Given the description of an element on the screen output the (x, y) to click on. 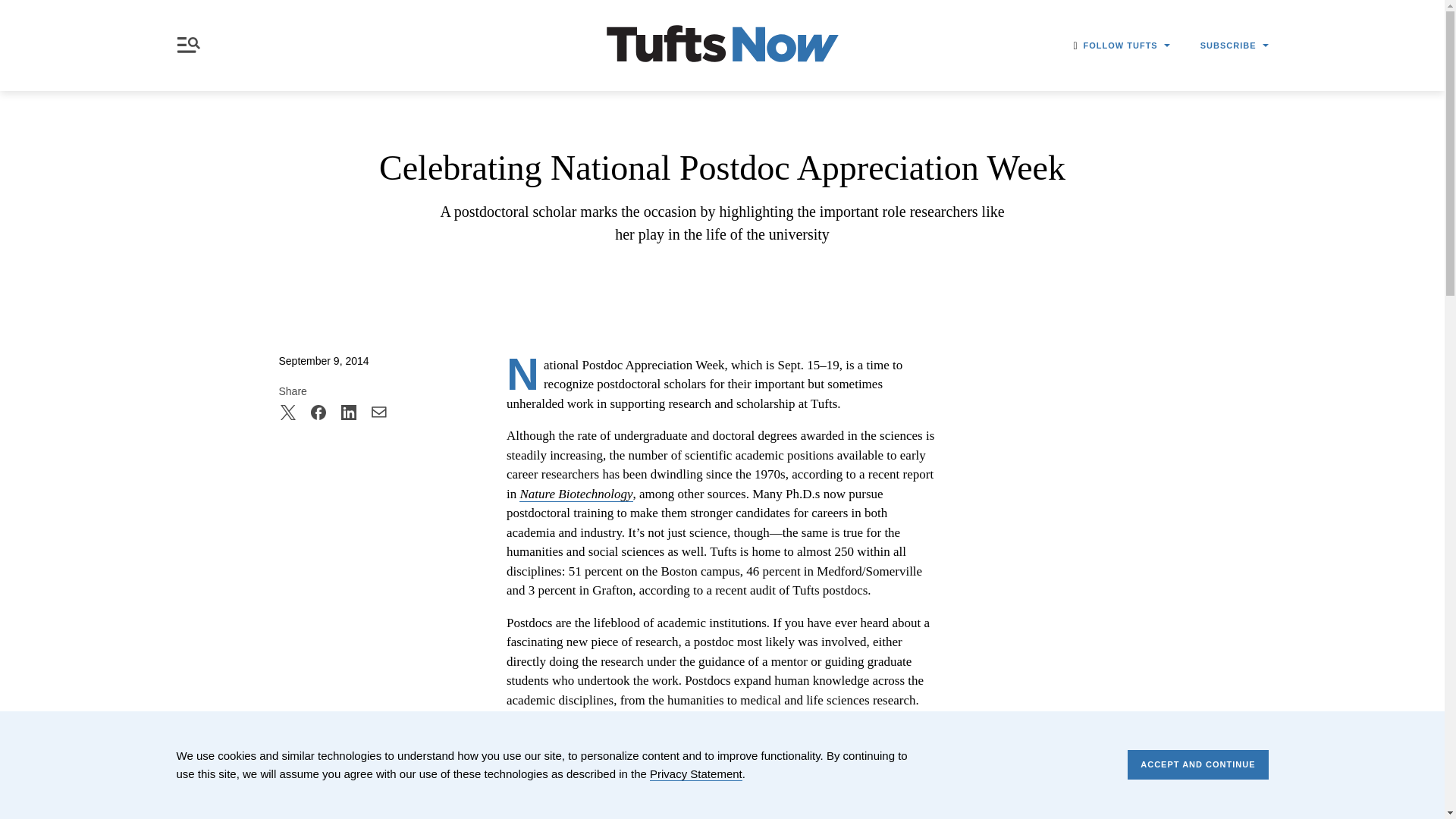
Privacy Statement (695, 774)
Menu (191, 45)
Subscribe (1103, 179)
SKIP TO MAIN CONTENT (13, 9)
FOLLOW TUFTS (1126, 45)
Apply (1066, 140)
ACCEPT AND CONTINUE (1197, 764)
SUBSCRIBE (1233, 45)
